Given the description of an element on the screen output the (x, y) to click on. 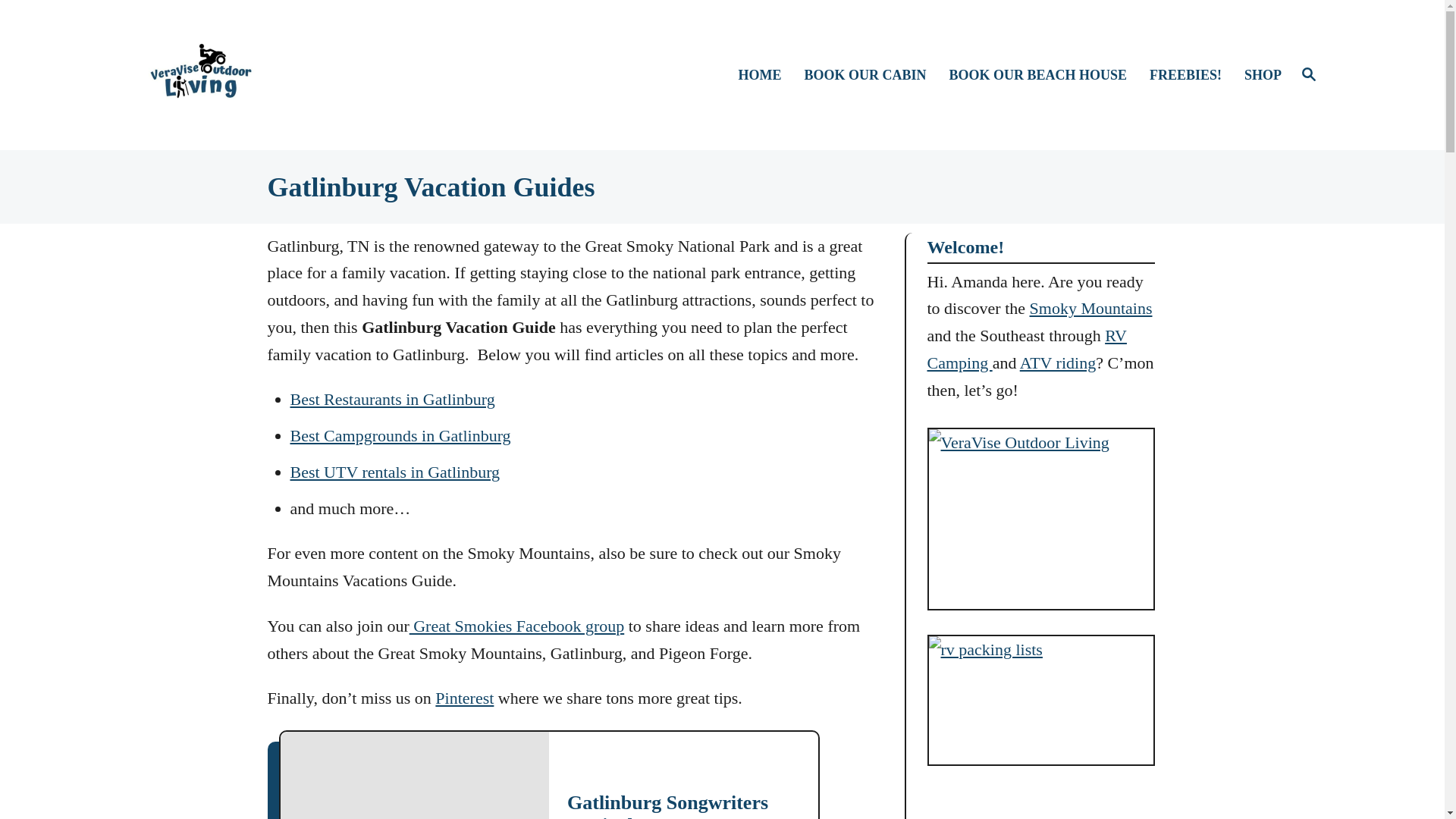
BOOK OUR CABIN (871, 75)
Pinterest (464, 697)
Best Restaurants in Gatlinburg (392, 398)
Gatlinburg Songwriters Festival (415, 775)
HOME (766, 75)
BOOK OUR BEACH HOUSE (1044, 75)
Magnifying Glass (1308, 74)
Best UTV rentals in Gatlinburg (394, 471)
Gatlinburg Songwriters Festival (667, 805)
FREEBIES! (1192, 75)
SHOP (1260, 75)
Great Smokies Facebook group (516, 625)
Best Campgrounds in Gatlinburg (1308, 75)
VeraVise Outdoor Living (400, 435)
